Given the description of an element on the screen output the (x, y) to click on. 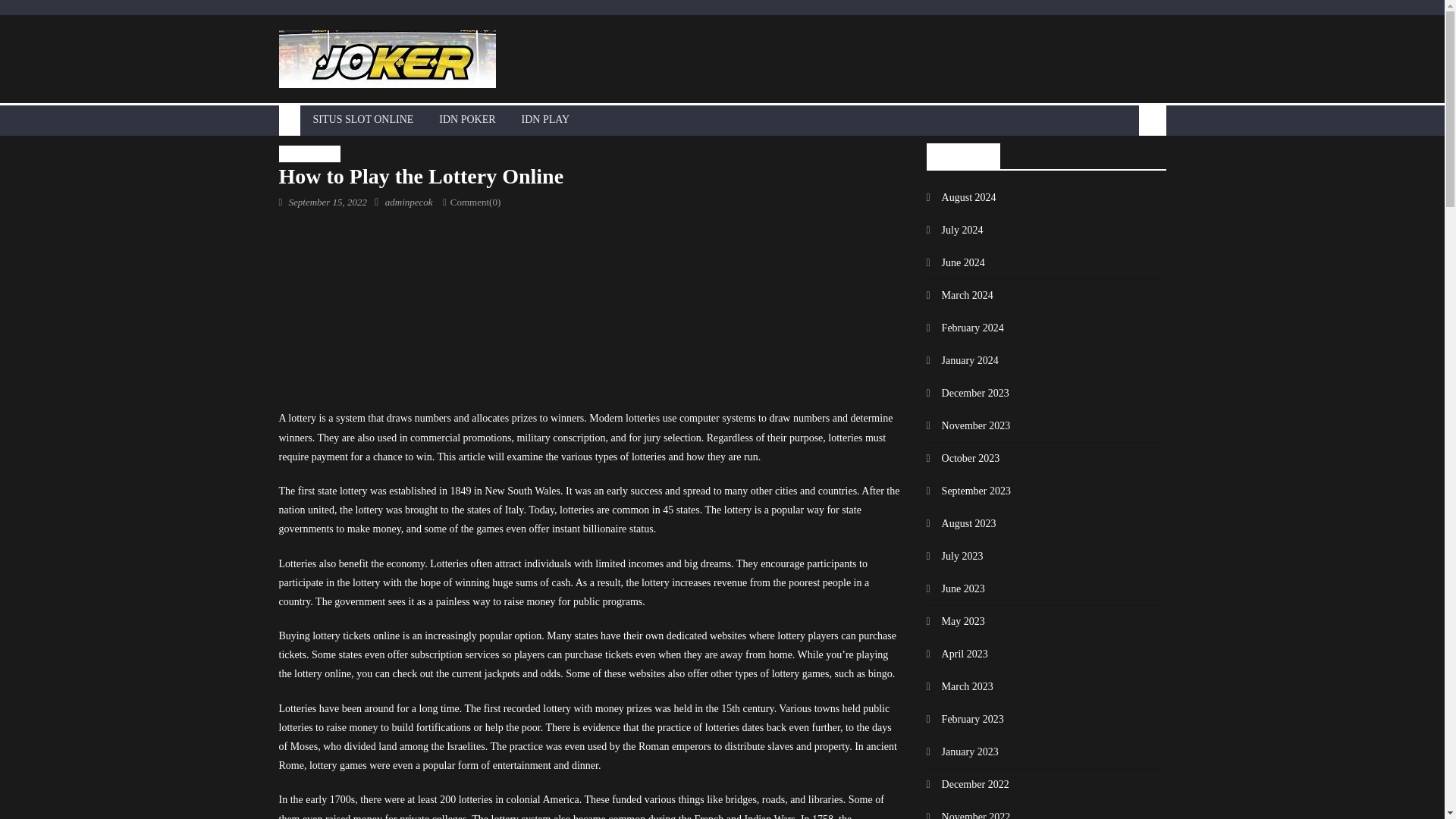
March 2024 (959, 295)
August 2024 (960, 197)
Uncategorized (309, 153)
February 2024 (965, 328)
January 2024 (962, 360)
adminpecok (408, 202)
September 15, 2022 (327, 202)
November 2023 (968, 426)
June 2024 (955, 262)
December 2023 (967, 393)
